Given the description of an element on the screen output the (x, y) to click on. 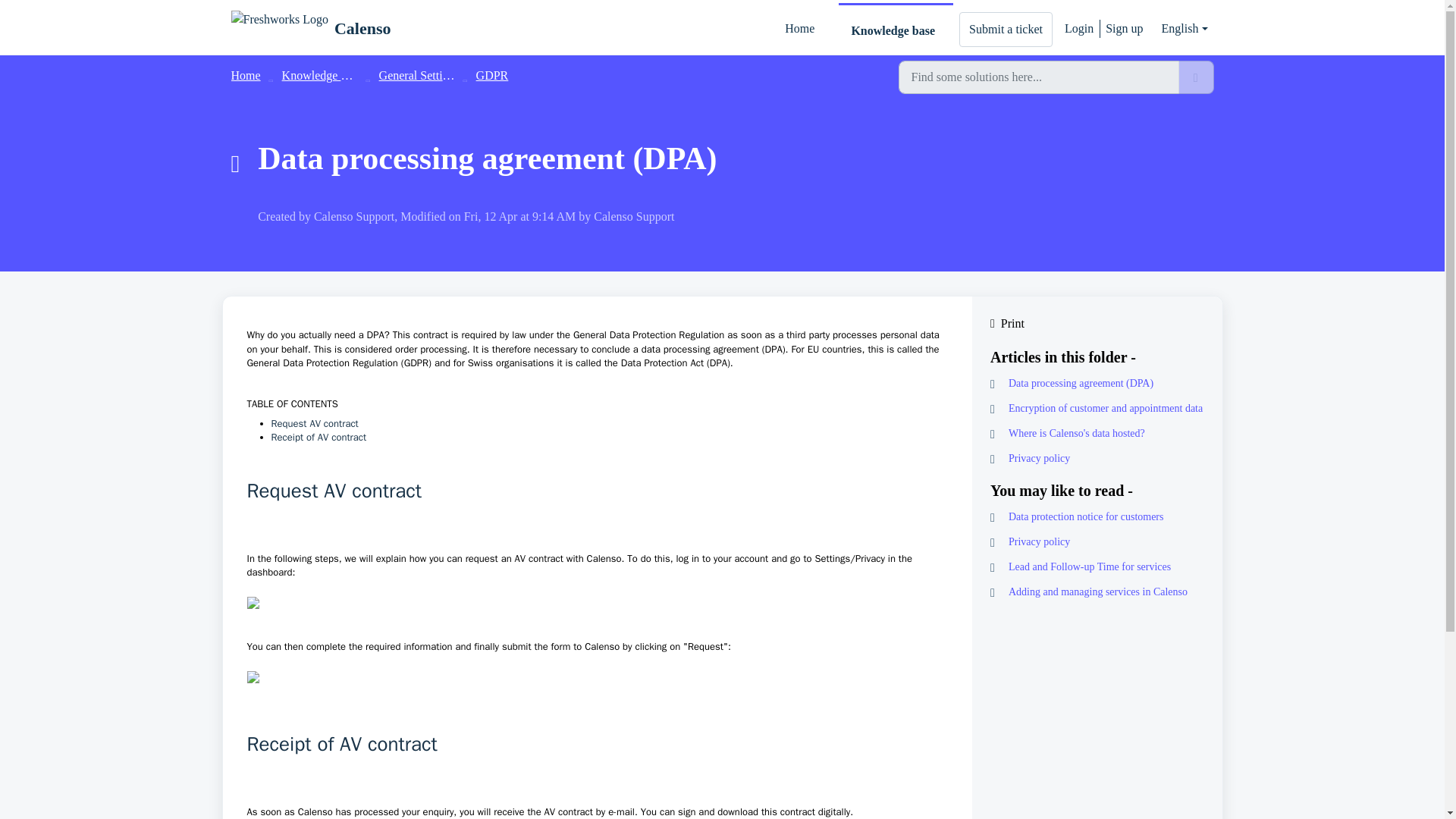
Knowledge base (895, 29)
Encryption of customer and appointment data (1097, 408)
Request AV contract (314, 422)
Print (1097, 323)
Home (245, 74)
Where is Calenso's data hosted? (1097, 433)
Privacy policy (1097, 458)
Receipt of AV contract (318, 436)
Privacy policy (1097, 541)
Calenso (362, 28)
